Given the description of an element on the screen output the (x, y) to click on. 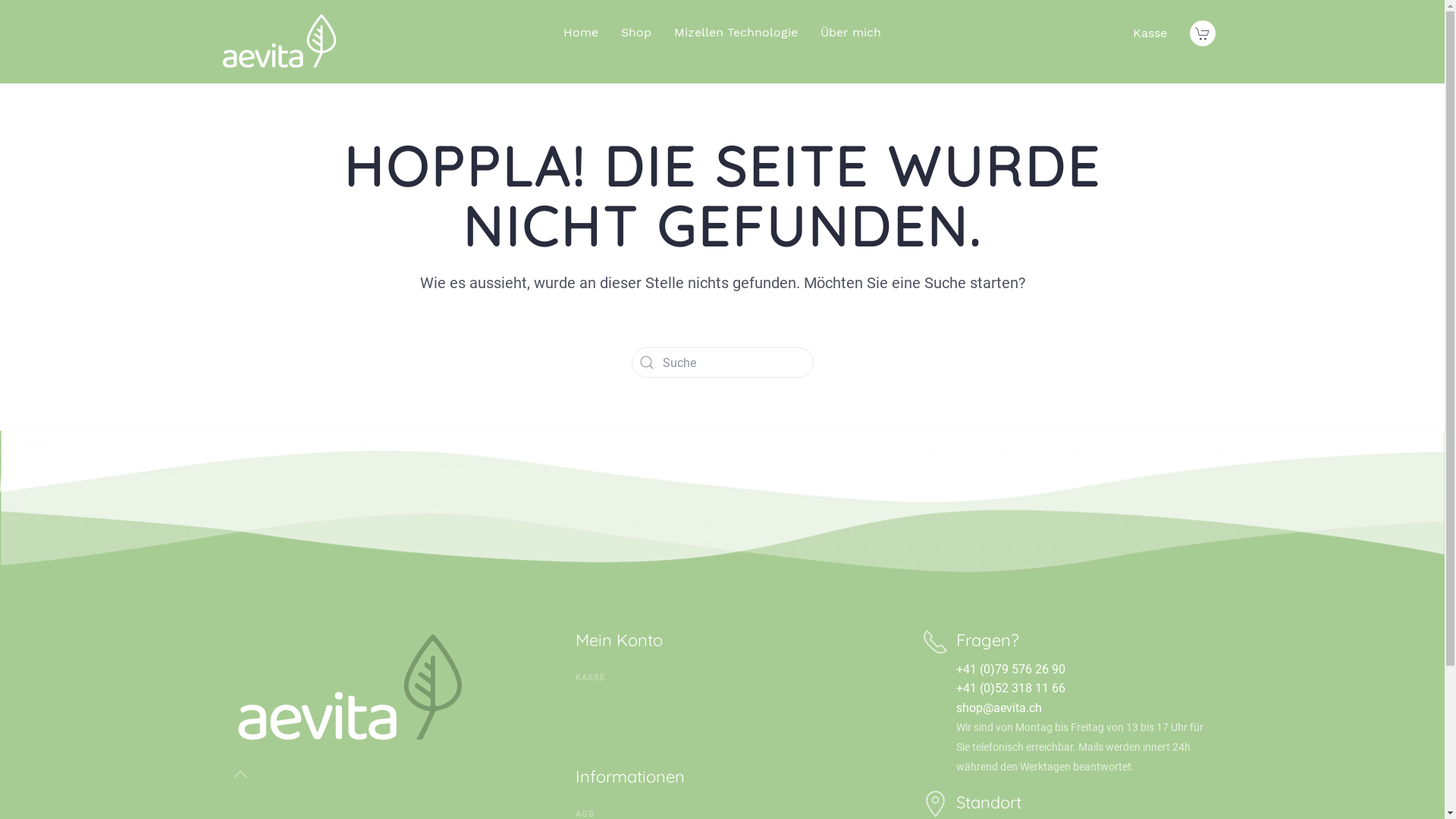
shop@aevita.ch Element type: text (998, 707)
+41 (0)52 318 11 66 Element type: text (1010, 687)
Shop Element type: text (635, 32)
Mizellen Technologie Element type: text (735, 32)
KASSE Element type: text (722, 677)
Kasse Element type: text (1148, 32)
Home Element type: text (580, 32)
+41 (0)79 576 26 90 Element type: text (1010, 669)
